Given the description of an element on the screen output the (x, y) to click on. 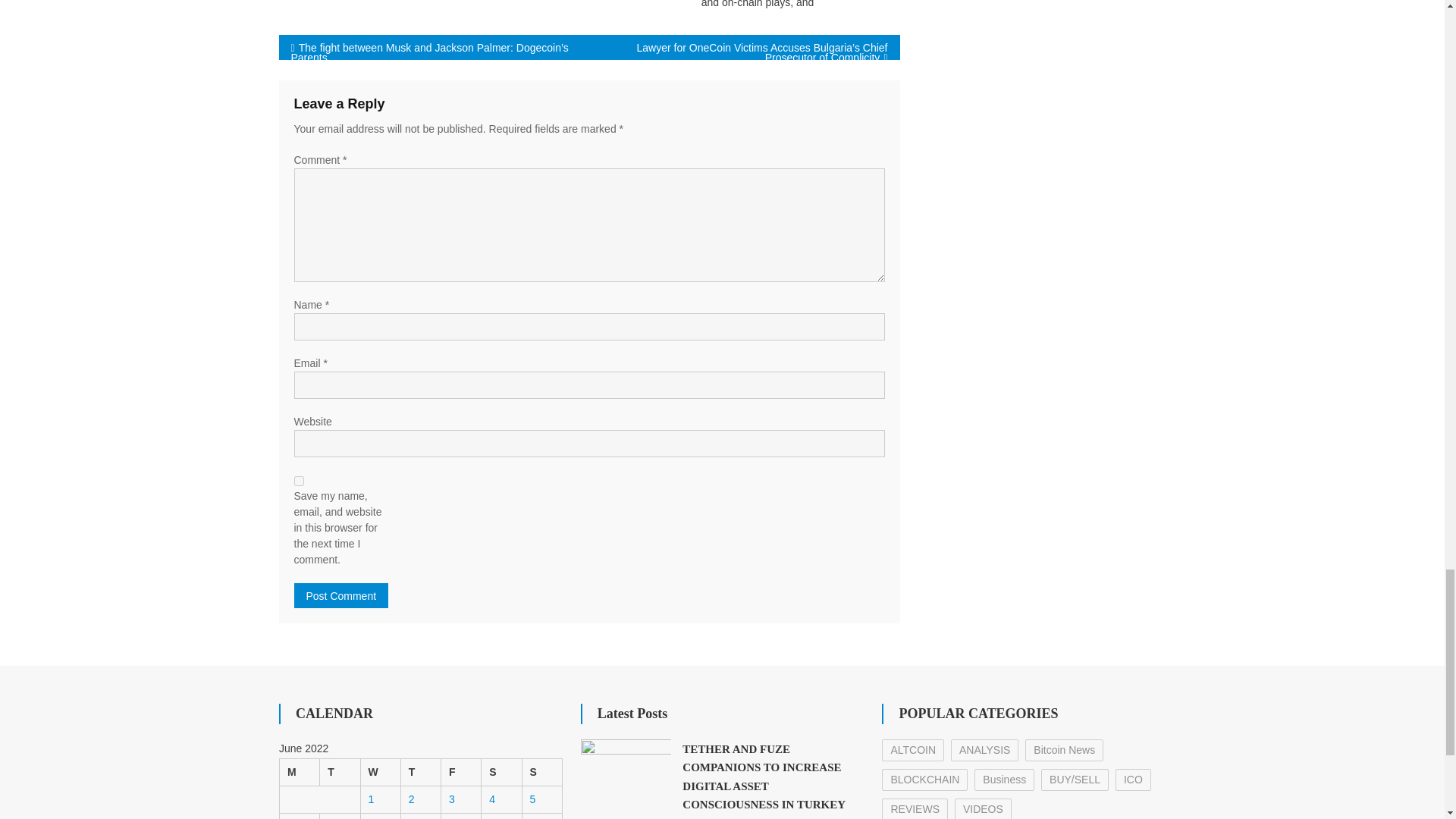
Tuesday (339, 771)
yes (299, 480)
Thursday (420, 771)
Post Comment (341, 595)
Saturday (501, 771)
Wednesday (379, 771)
Sunday (541, 771)
Friday (461, 771)
Monday (298, 771)
